Given the description of an element on the screen output the (x, y) to click on. 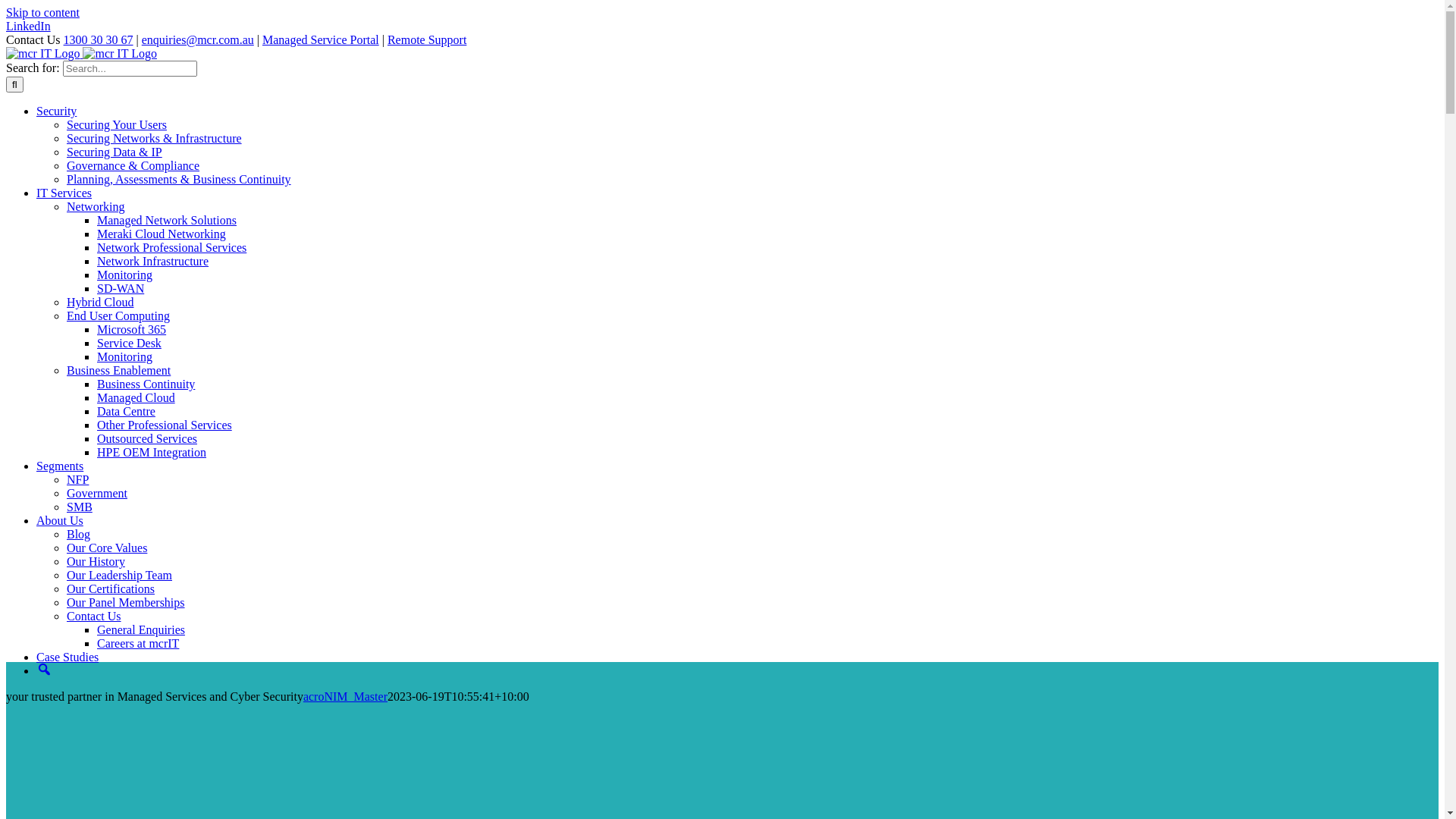
Our Leadership Team Element type: text (119, 574)
Monitoring Element type: text (124, 274)
Meraki Cloud Networking Element type: text (161, 233)
SD-WAN Element type: text (120, 288)
Microsoft 365 Element type: text (131, 329)
Business Enablement Element type: text (118, 370)
Outsourced Services Element type: text (147, 438)
Networking Element type: text (95, 206)
Our Core Values Element type: text (106, 547)
LinkedIn Element type: text (28, 25)
Network Professional Services Element type: text (171, 247)
Securing Networks & Infrastructure Element type: text (153, 137)
Other Professional Services Element type: text (164, 424)
1300 30 30 67 Element type: text (98, 39)
Blog Element type: text (78, 533)
IT Services Element type: text (63, 192)
Securing Data & IP Element type: text (114, 151)
Our Certifications Element type: text (110, 588)
Network Infrastructure Element type: text (152, 260)
Remote Support Element type: text (426, 39)
HPE OEM Integration Element type: text (151, 451)
Our History Element type: text (95, 561)
About Us Element type: text (59, 520)
End User Computing Element type: text (117, 315)
General Enquiries Element type: text (141, 629)
Government Element type: text (96, 492)
Service Desk Element type: text (129, 342)
Security Element type: text (56, 110)
Managed Cloud Element type: text (136, 397)
Case Studies Element type: text (67, 656)
Contact Us Element type: text (93, 615)
NFP Element type: text (77, 479)
Governance & Compliance Element type: text (132, 165)
Managed Service Portal Element type: text (320, 39)
Our Panel Memberships Element type: text (125, 602)
acroNIM_Master Element type: text (345, 696)
Managed Network Solutions Element type: text (166, 219)
Data Centre Element type: text (126, 410)
Monitoring Element type: text (124, 356)
Search Element type: text (44, 670)
Skip to content Element type: text (42, 12)
Securing Your Users Element type: text (116, 124)
SMB Element type: text (79, 506)
Planning, Assessments & Business Continuity Element type: text (178, 178)
Business Continuity Element type: text (145, 383)
Hybrid Cloud Element type: text (99, 301)
Careers at mcrIT Element type: text (137, 643)
Segments Element type: text (59, 465)
enquiries@mcr.com.au Element type: text (197, 39)
